Given the description of an element on the screen output the (x, y) to click on. 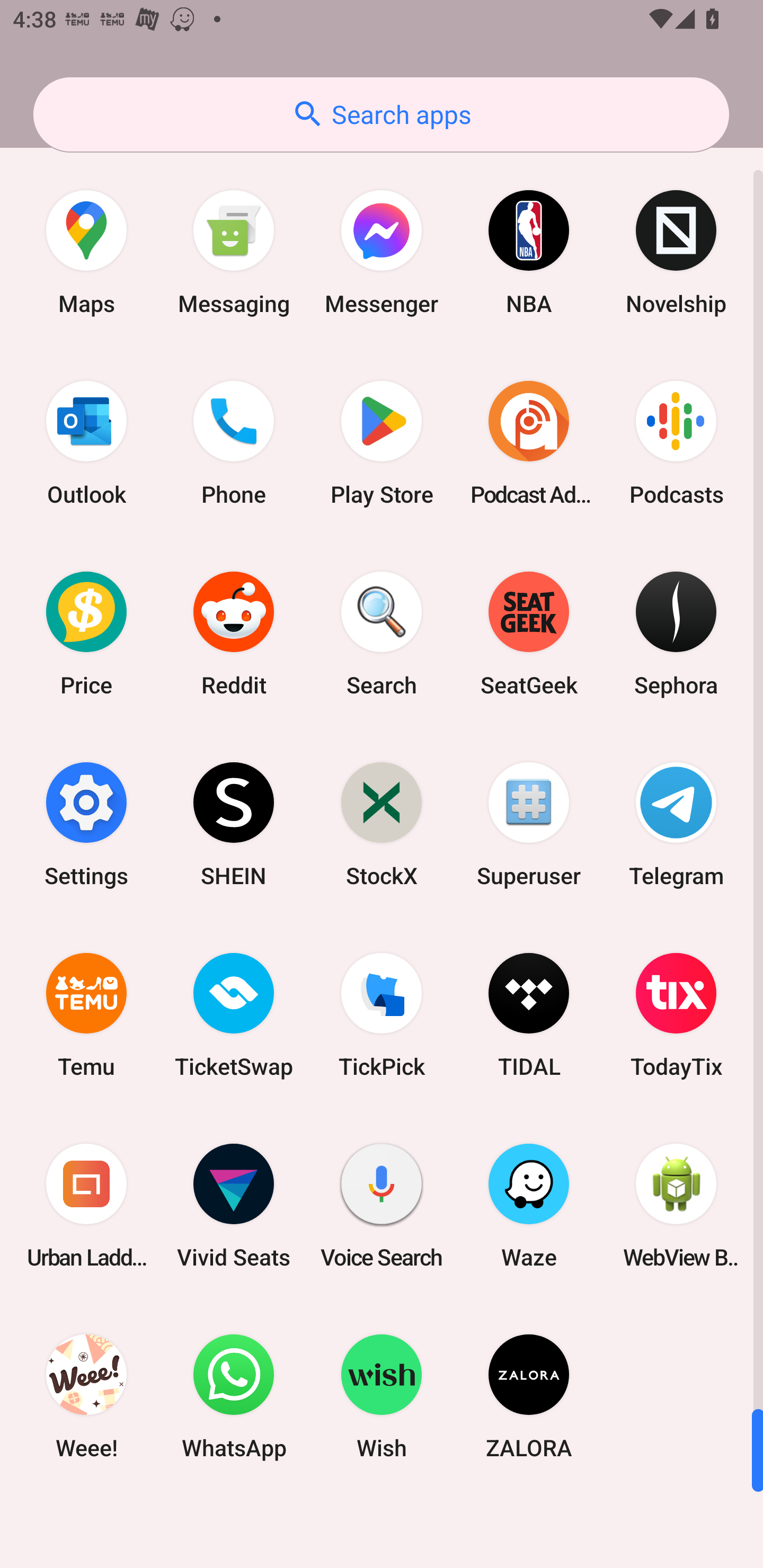
  Search apps (381, 114)
Maps (86, 252)
Messaging (233, 252)
Messenger (381, 252)
NBA (528, 252)
Novelship (676, 252)
Outlook (86, 442)
Phone (233, 442)
Play Store (381, 442)
Podcast Addict (528, 442)
Podcasts (676, 442)
Price (86, 633)
Reddit (233, 633)
Search (381, 633)
SeatGeek (528, 633)
Sephora (676, 633)
Settings (86, 823)
SHEIN (233, 823)
StockX (381, 823)
Superuser (528, 823)
Telegram (676, 823)
Temu (86, 1014)
TicketSwap (233, 1014)
TickPick (381, 1014)
TIDAL (528, 1014)
TodayTix (676, 1014)
Urban Ladder (86, 1205)
Vivid Seats (233, 1205)
Voice Search (381, 1205)
Waze (528, 1205)
WebView Browser Tester (676, 1205)
Weee! (86, 1396)
WhatsApp (233, 1396)
Wish (381, 1396)
ZALORA (528, 1396)
